Given the description of an element on the screen output the (x, y) to click on. 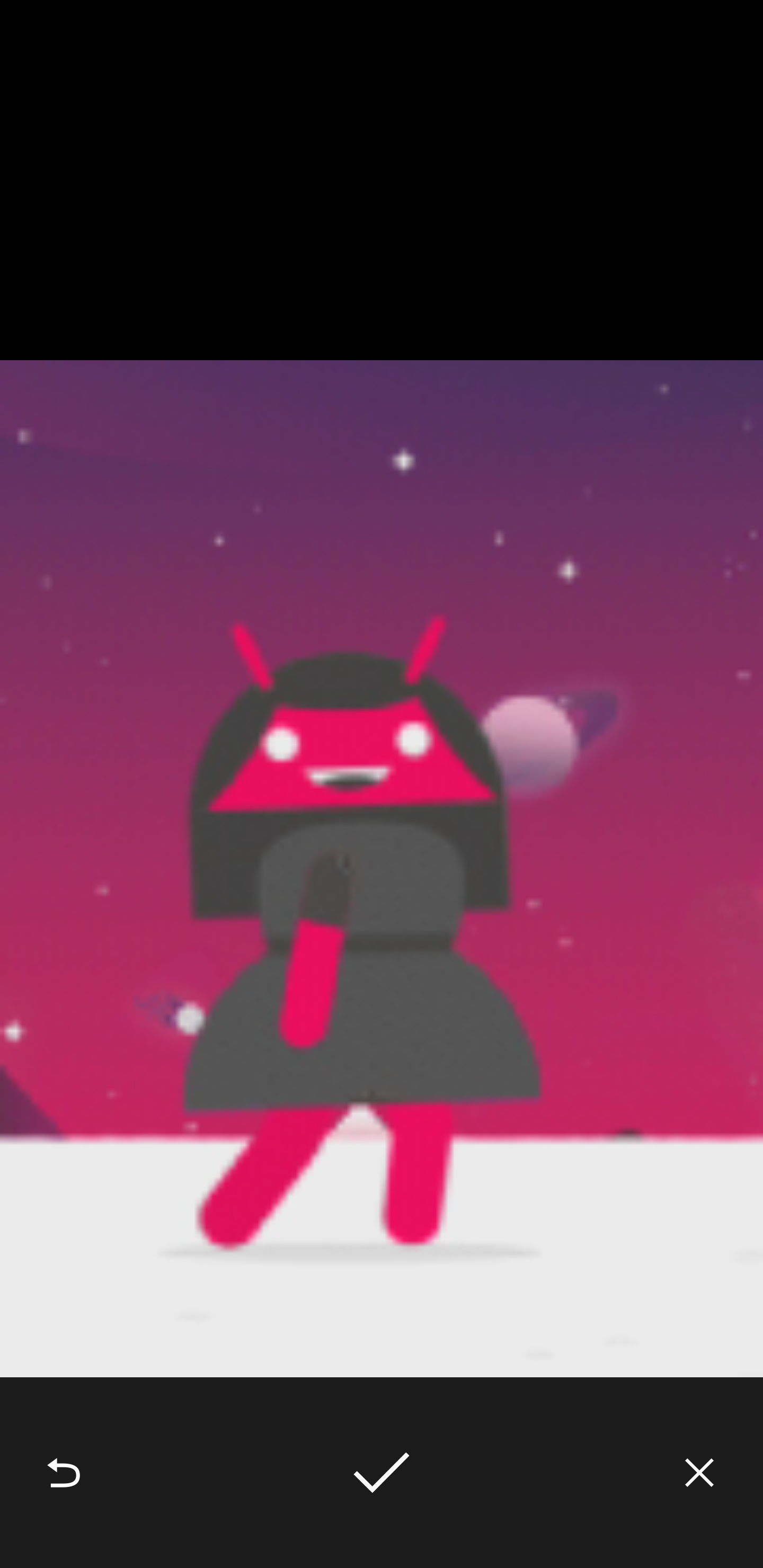
Done (381, 1472)
Retake (63, 1472)
Cancel (699, 1472)
